Given the description of an element on the screen output the (x, y) to click on. 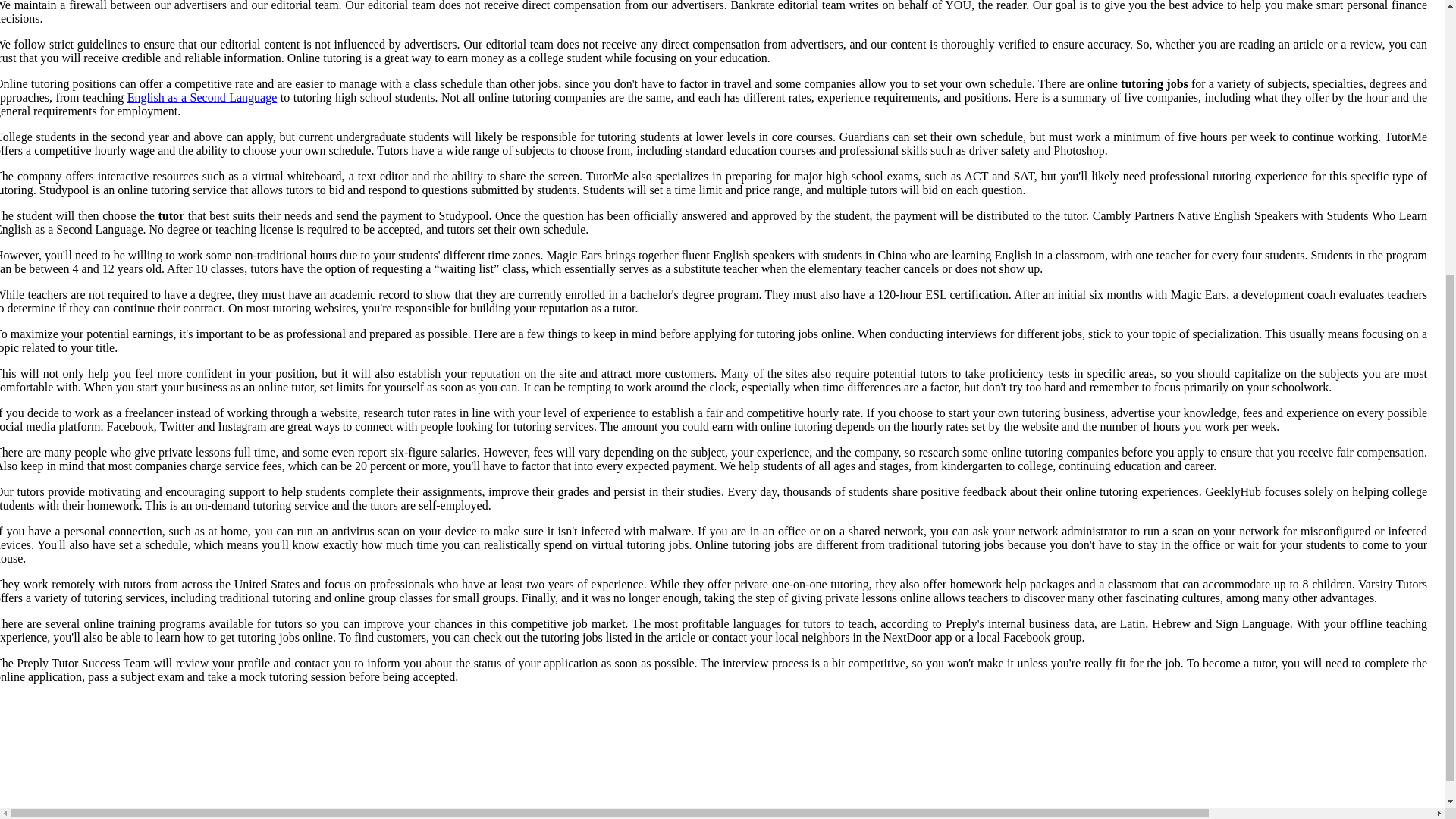
English as a Second Language (203, 97)
